Given the description of an element on the screen output the (x, y) to click on. 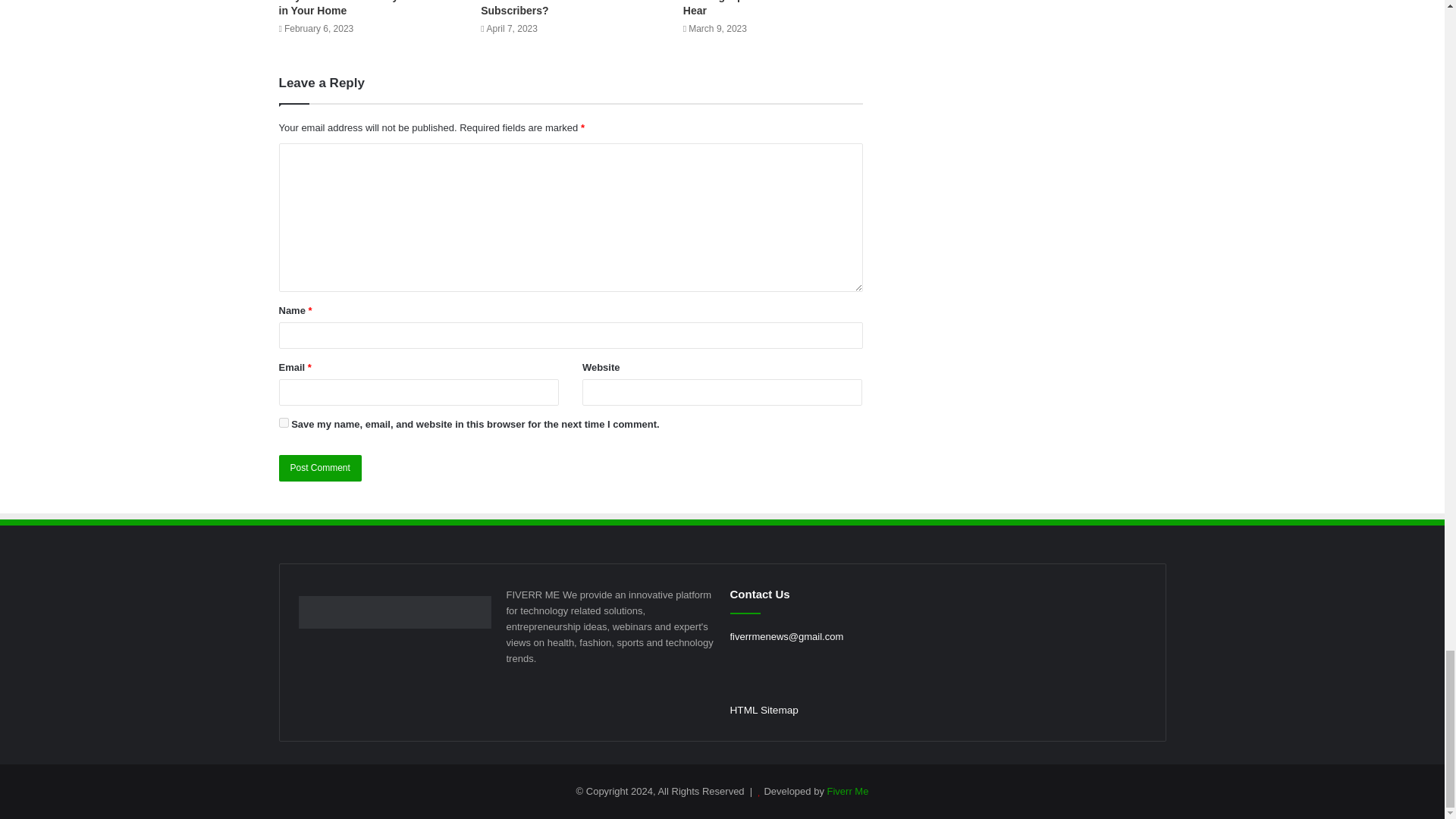
yes (283, 422)
Post Comment (320, 468)
